Given the description of an element on the screen output the (x, y) to click on. 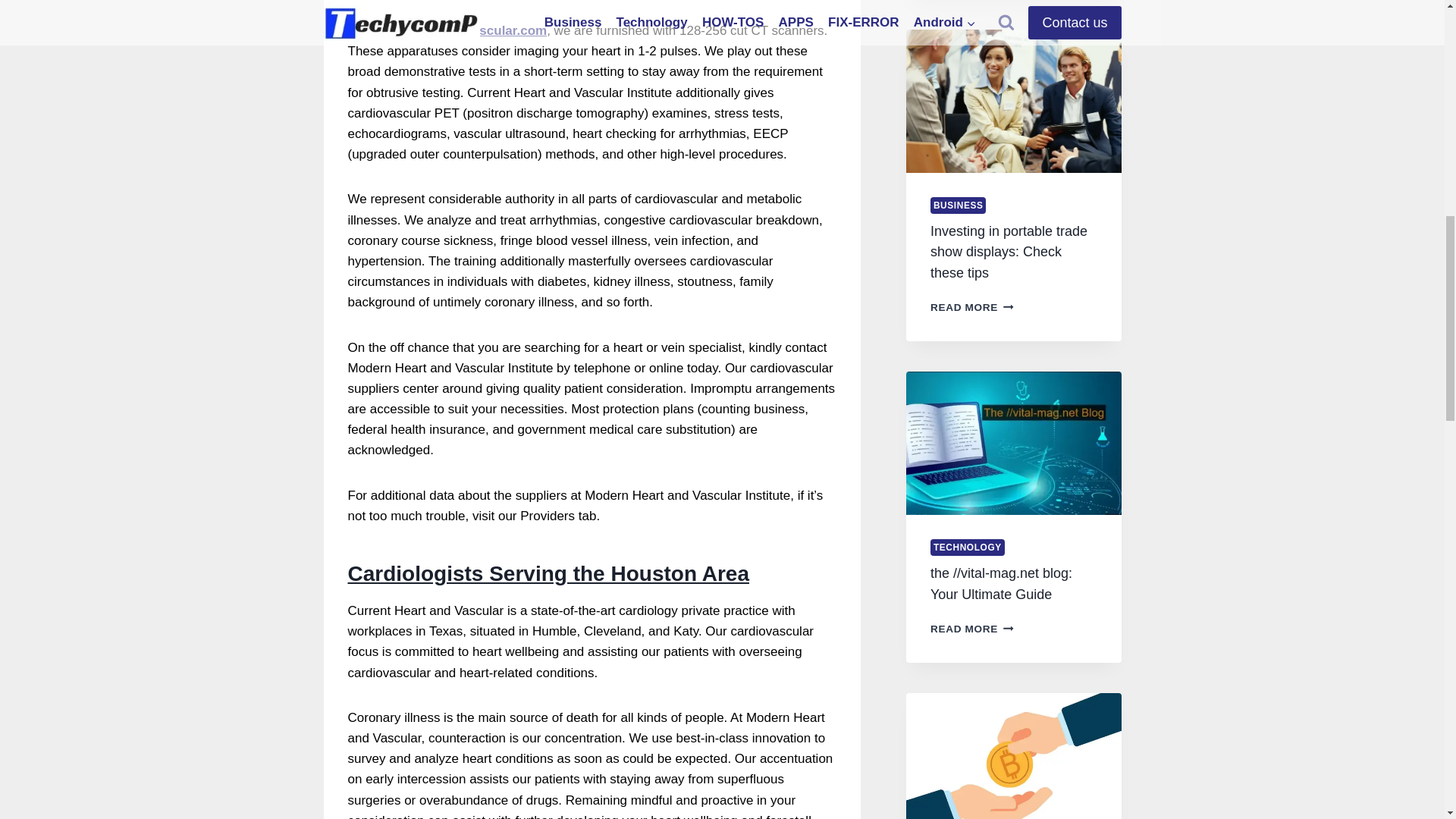
modernheartandvascular.com (454, 30)
